Given the description of an element on the screen output the (x, y) to click on. 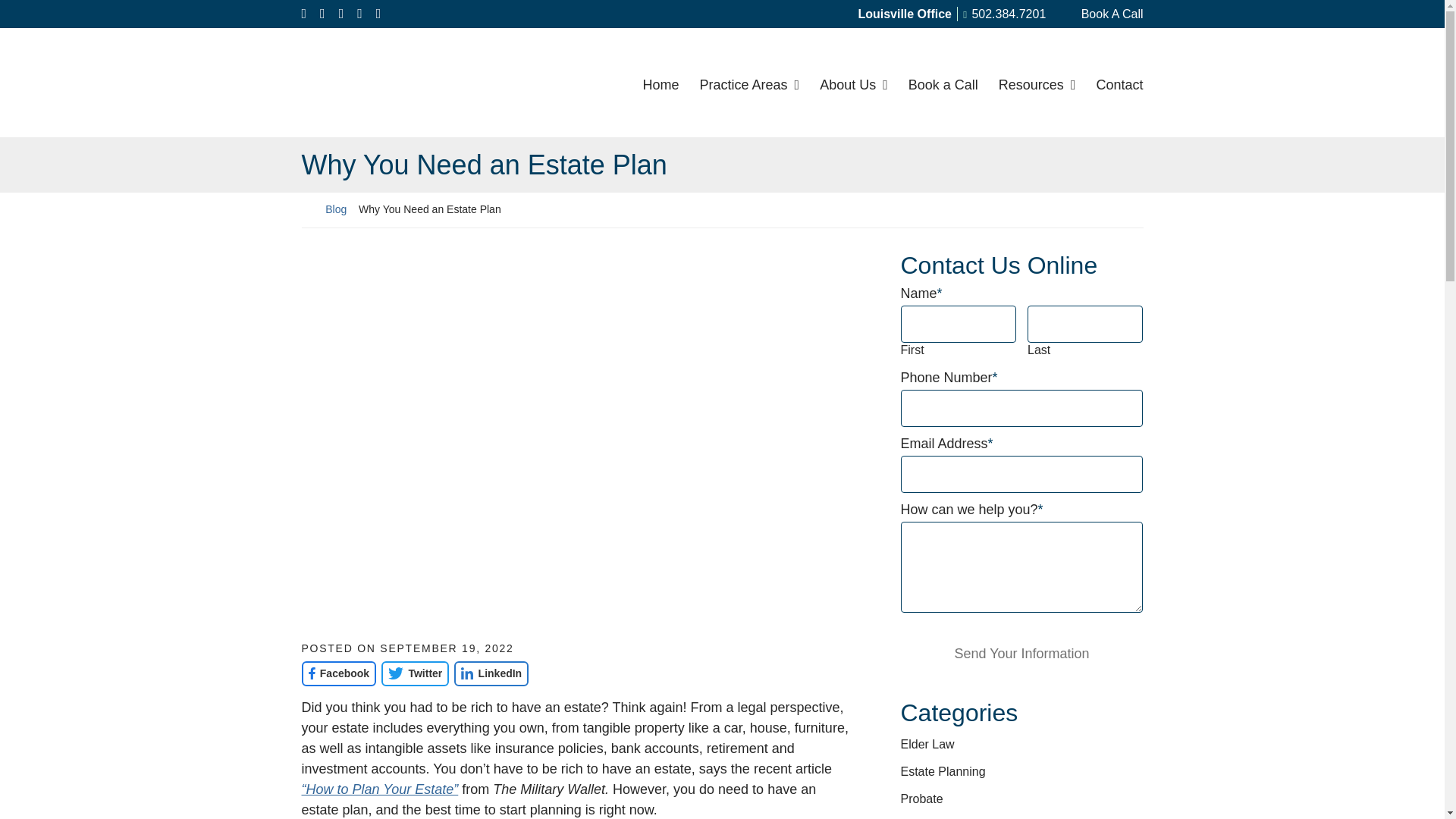
Return home (307, 209)
Estate Planning (943, 771)
About Us (853, 82)
Book A Call (1101, 13)
Send Your Information (1021, 654)
Twitter (414, 673)
Breadcrumb trail (721, 209)
Resources (1036, 82)
Blog (335, 209)
Elder Law (928, 744)
